Given the description of an element on the screen output the (x, y) to click on. 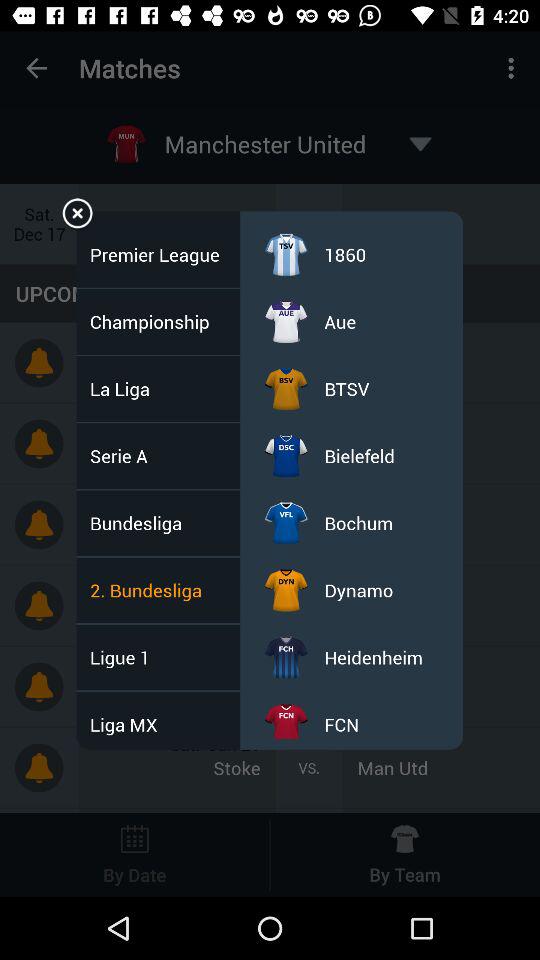
open the aue icon (340, 321)
